Given the description of an element on the screen output the (x, y) to click on. 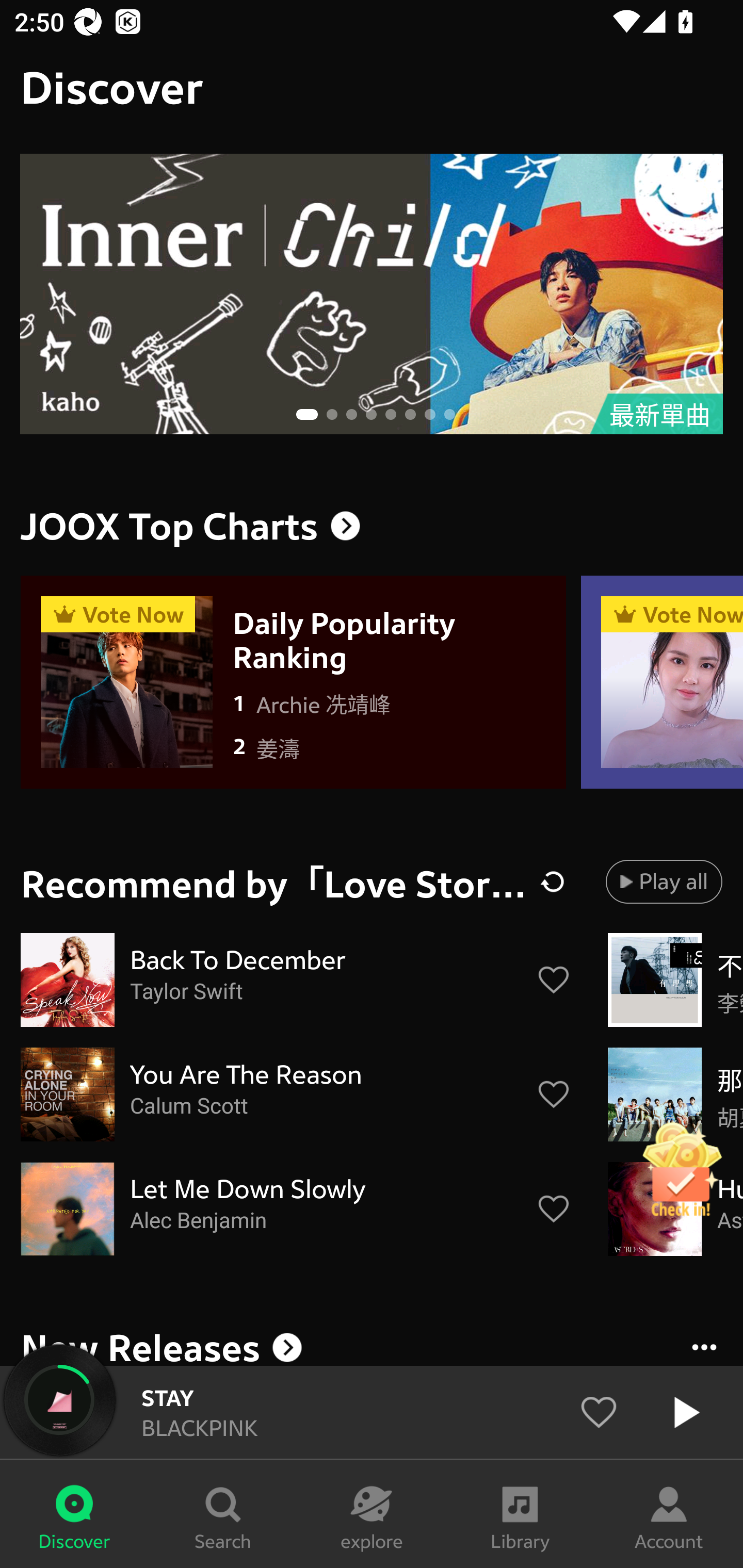
最新單曲   (371, 293)
JOOX Top Charts (371, 525)
Play all (663, 881)
Back To December Taylor Swift (295, 979)
You Are The Reason Calum Scott (295, 1094)
Let Me Down Slowly Alec Benjamin (295, 1208)
New Releases (371, 1344)
STAY BLACKPINK (371, 1412)
Search (222, 1513)
explore (371, 1513)
Library (519, 1513)
Account (668, 1513)
